Given the description of an element on the screen output the (x, y) to click on. 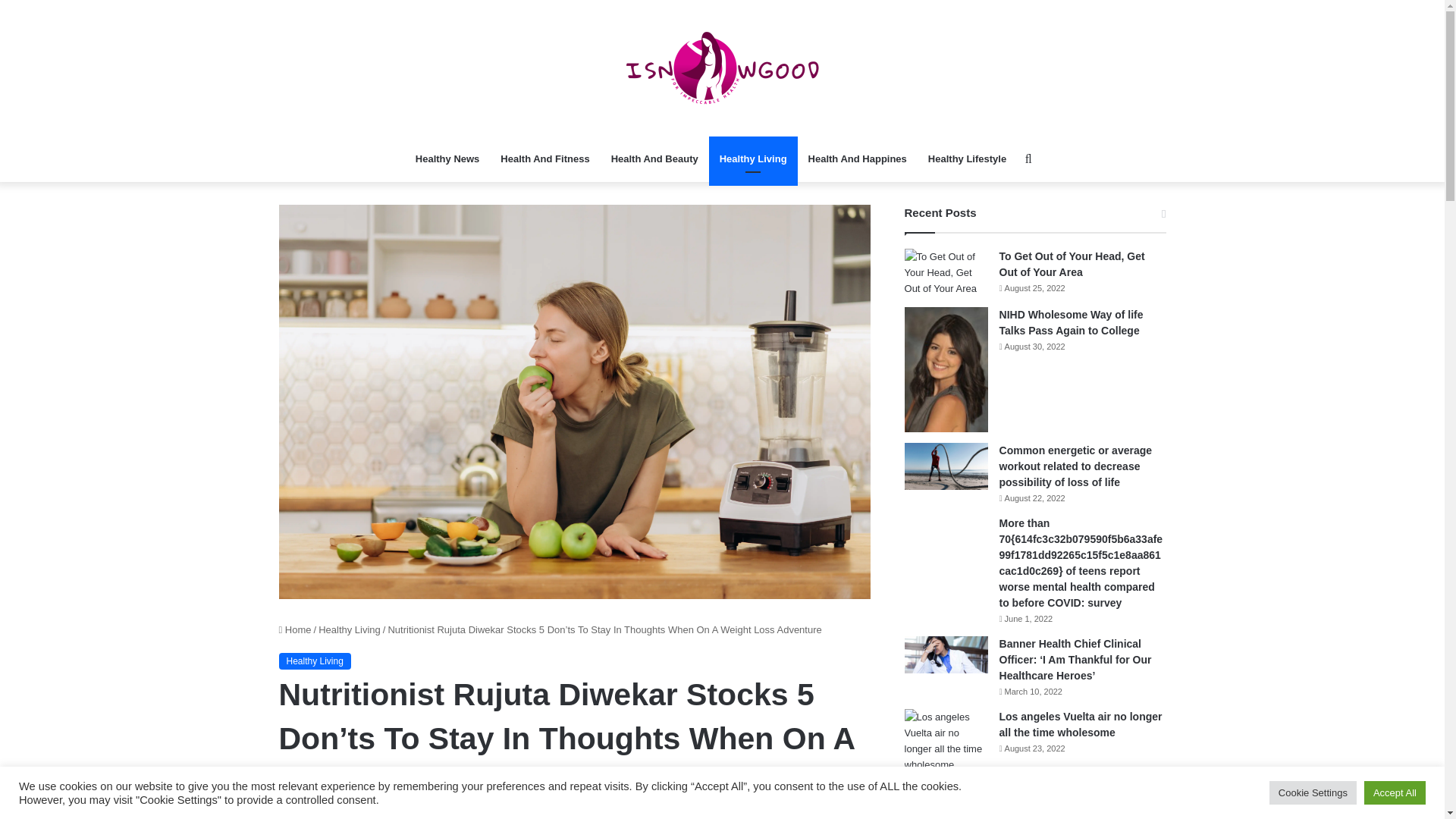
Healthy News (447, 158)
Healthy Living (314, 660)
Healthy Living (753, 158)
Healthy Living (349, 629)
Search for (1027, 158)
NIHD Wholesome Way of life Talks Pass Again to College (946, 369)
Health And Fitness (544, 158)
Is Now Good (721, 68)
Home (295, 629)
To Get Out of Your Head, Get Out of Your Area (1071, 264)
Health And Happines (857, 158)
Healthy Lifestyle (966, 158)
To Get Out of Your Head, Get Out of Your Area (946, 272)
Health And Beauty (654, 158)
